Given the description of an element on the screen output the (x, y) to click on. 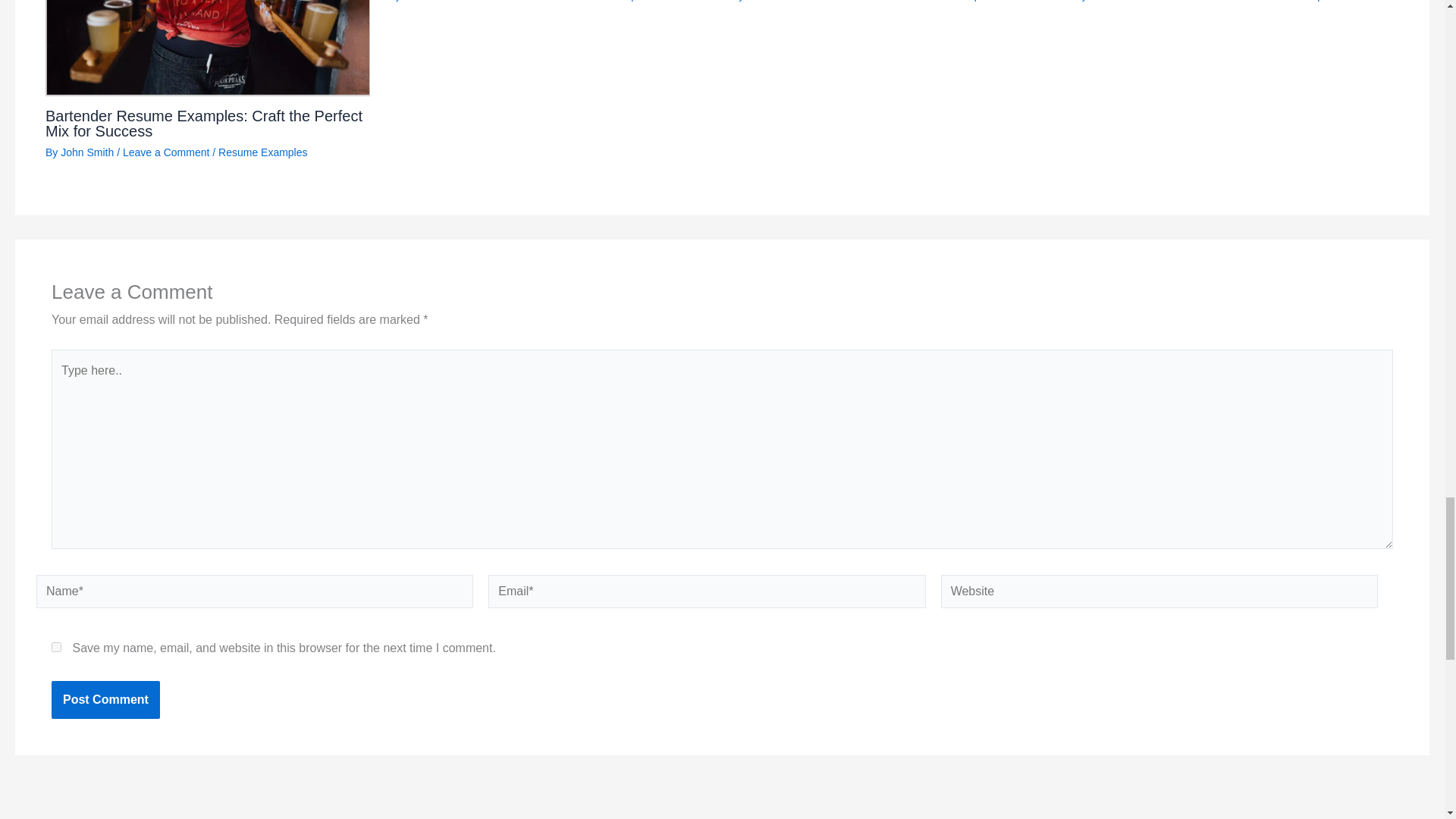
View all posts by John Smith (87, 152)
View all posts by John Smith (430, 0)
Post Comment (105, 699)
View all posts by John Smith (772, 0)
yes (55, 646)
View all posts by John Smith (1116, 0)
